Given the description of an element on the screen output the (x, y) to click on. 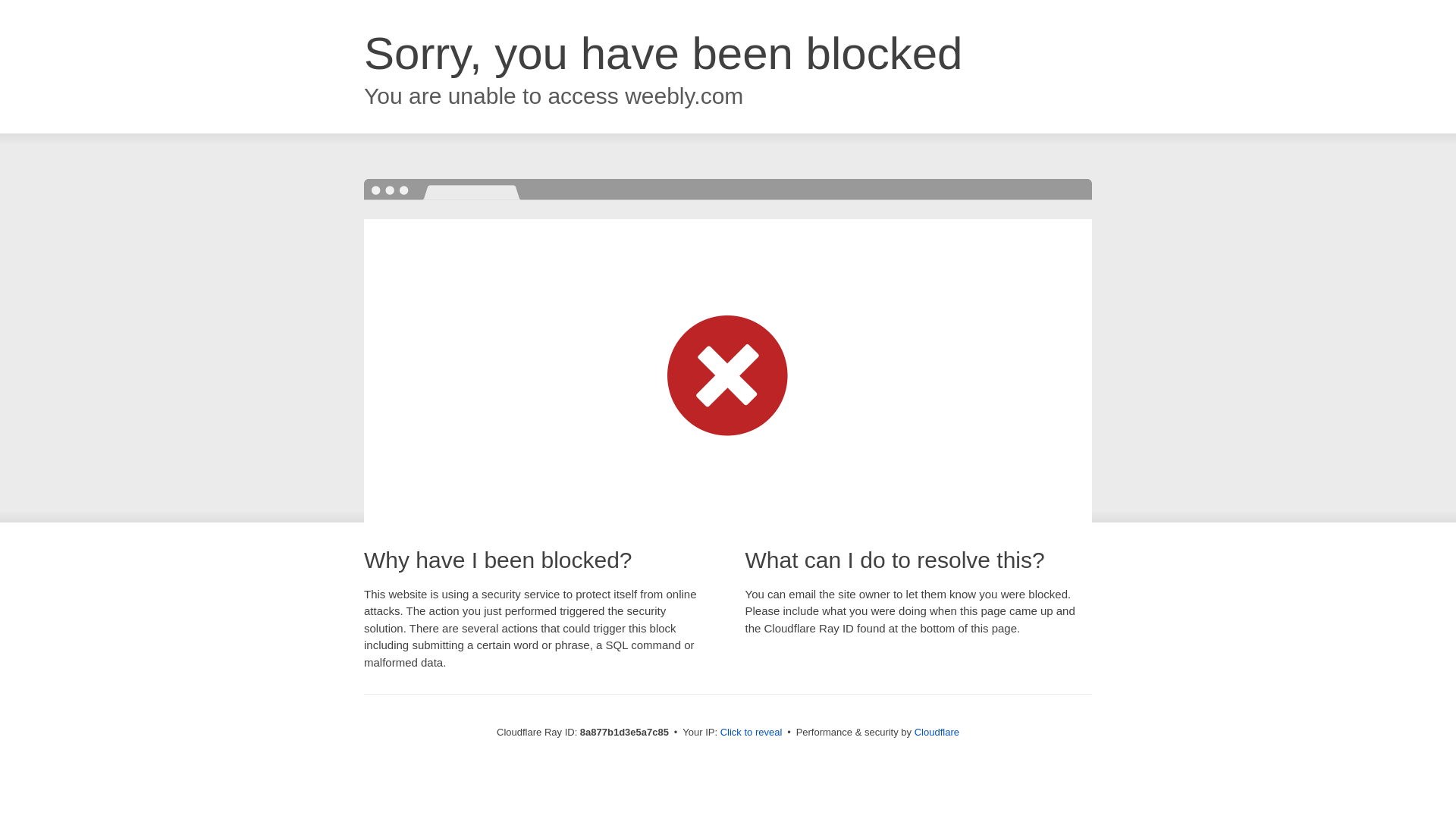
Click to reveal (751, 732)
Cloudflare (936, 731)
